Given the description of an element on the screen output the (x, y) to click on. 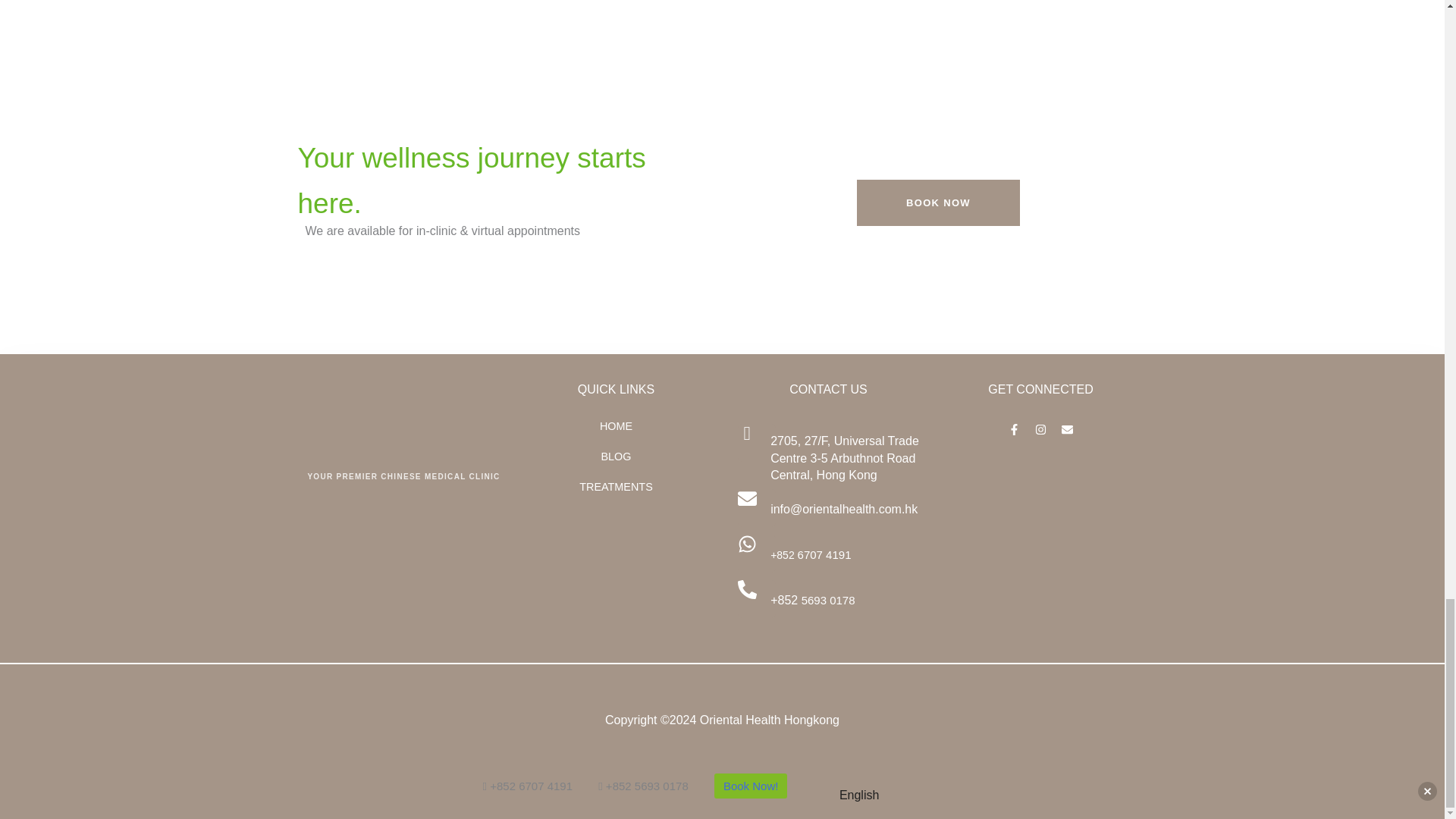
English (848, 794)
English (825, 795)
